Given the description of an element on the screen output the (x, y) to click on. 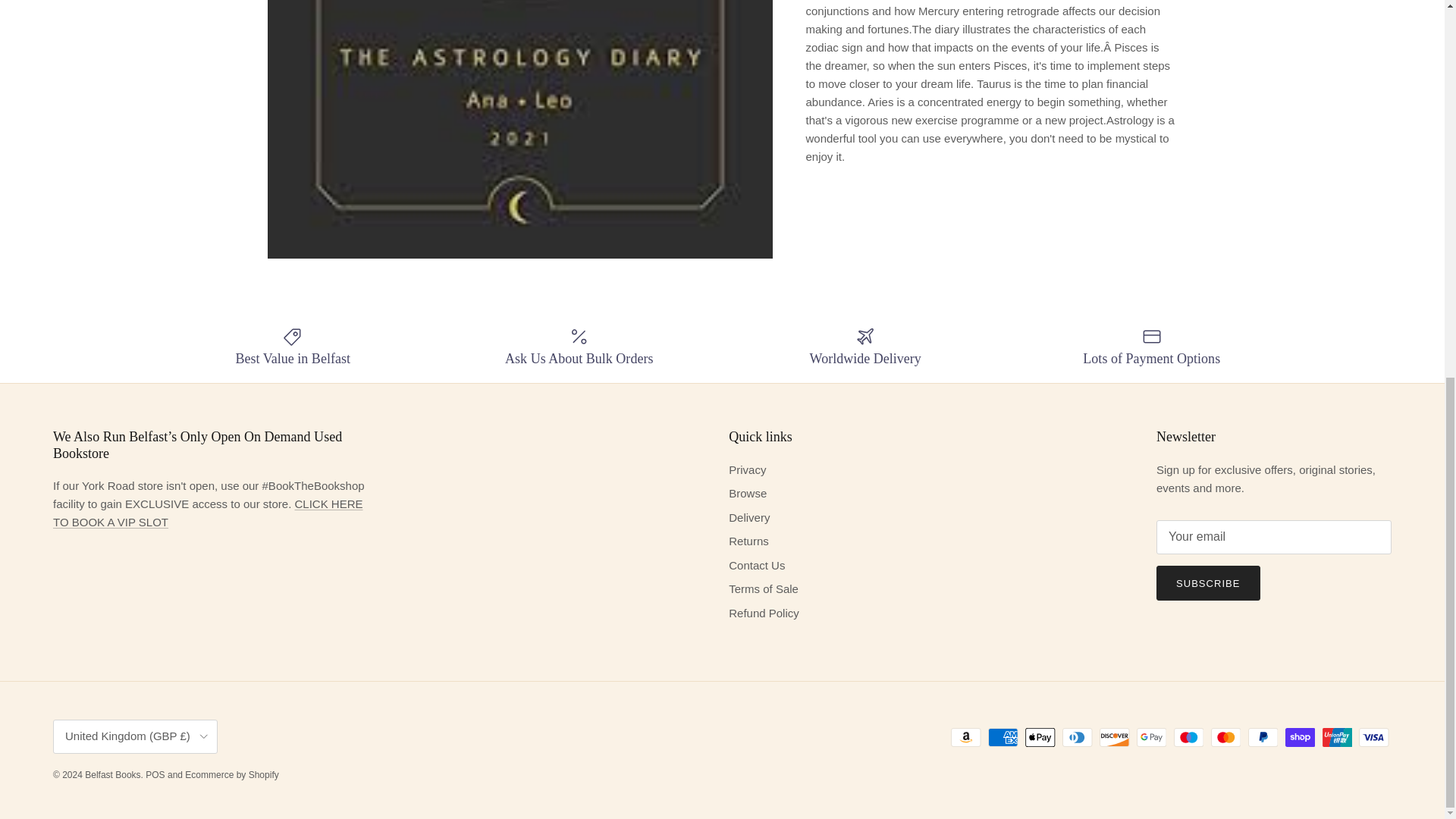
Diners Club (1077, 737)
Maestro (1188, 737)
Amazon (965, 737)
PayPal (1262, 737)
Mastercard (1225, 737)
Discover (1114, 737)
Apple Pay (1040, 737)
Google Pay (1151, 737)
Shop Pay (1299, 737)
American Express (1002, 737)
